Given the description of an element on the screen output the (x, y) to click on. 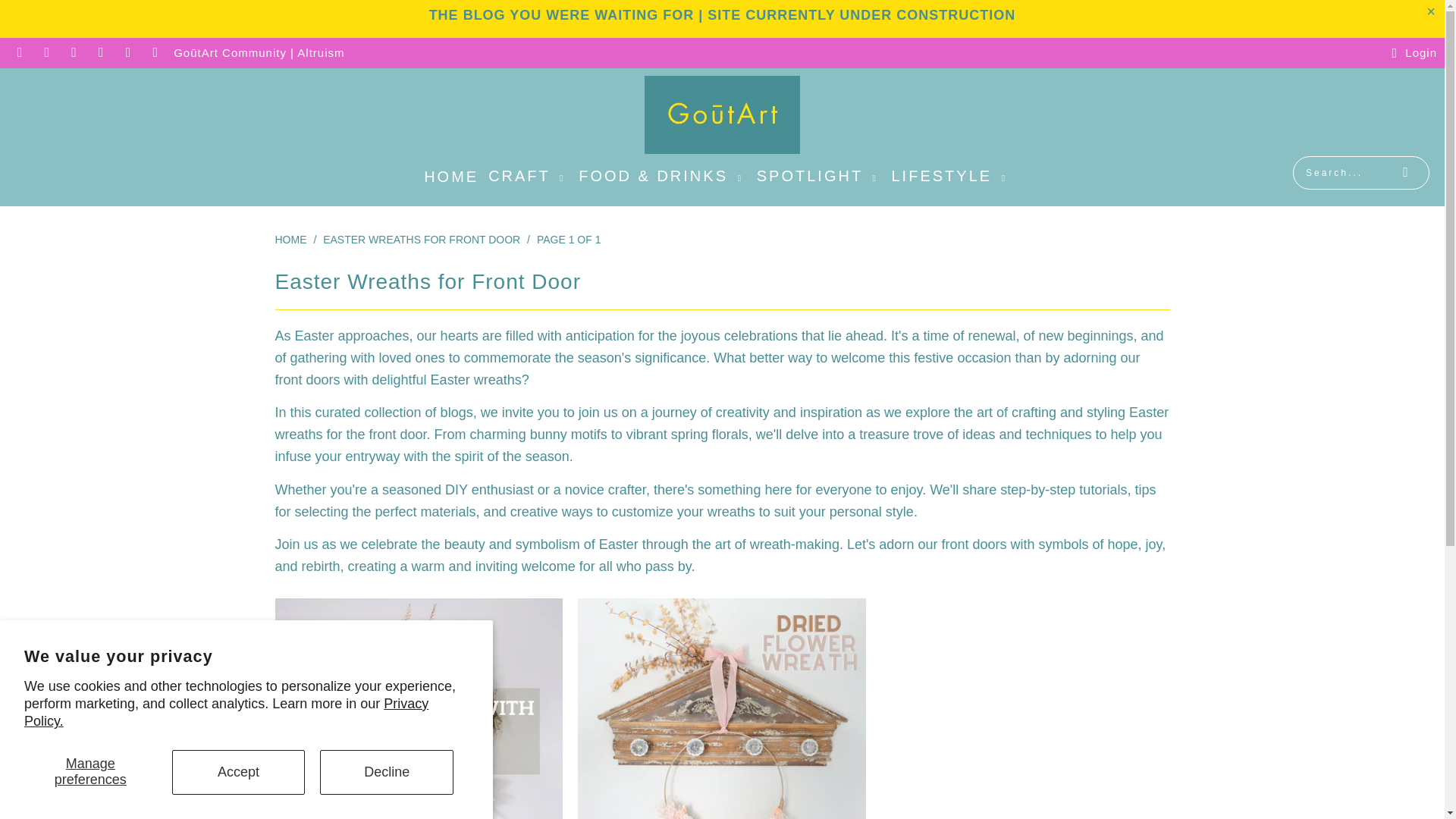
My Account  (1411, 53)
Privacy Policy. (226, 712)
Easter Wreaths for Front Door (421, 239)
Accept (238, 772)
Manage preferences (90, 772)
Decline (386, 772)
